Given the description of an element on the screen output the (x, y) to click on. 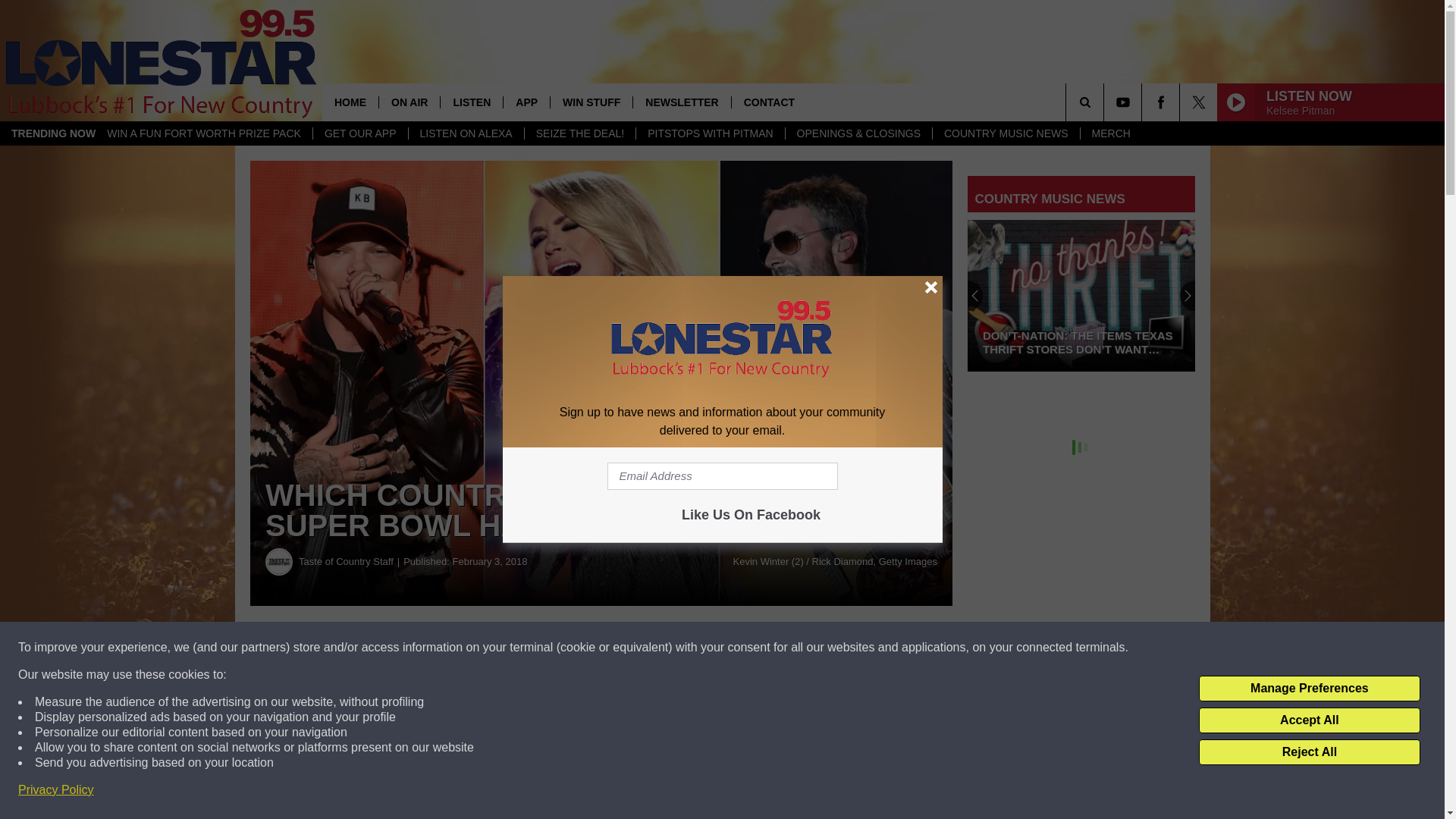
SEARCH (1106, 102)
APP (526, 102)
SEIZE THE DEAL! (579, 133)
Accept All (1309, 720)
PITSTOPS WITH PITMAN (709, 133)
Email Address (722, 475)
LISTEN ON ALEXA (465, 133)
WIN STUFF (590, 102)
Reject All (1309, 751)
Manage Preferences (1309, 688)
ON AIR (408, 102)
LISTEN (470, 102)
Share on Twitter (741, 647)
MERCH (1110, 133)
GET OUR APP (360, 133)
